Given the description of an element on the screen output the (x, y) to click on. 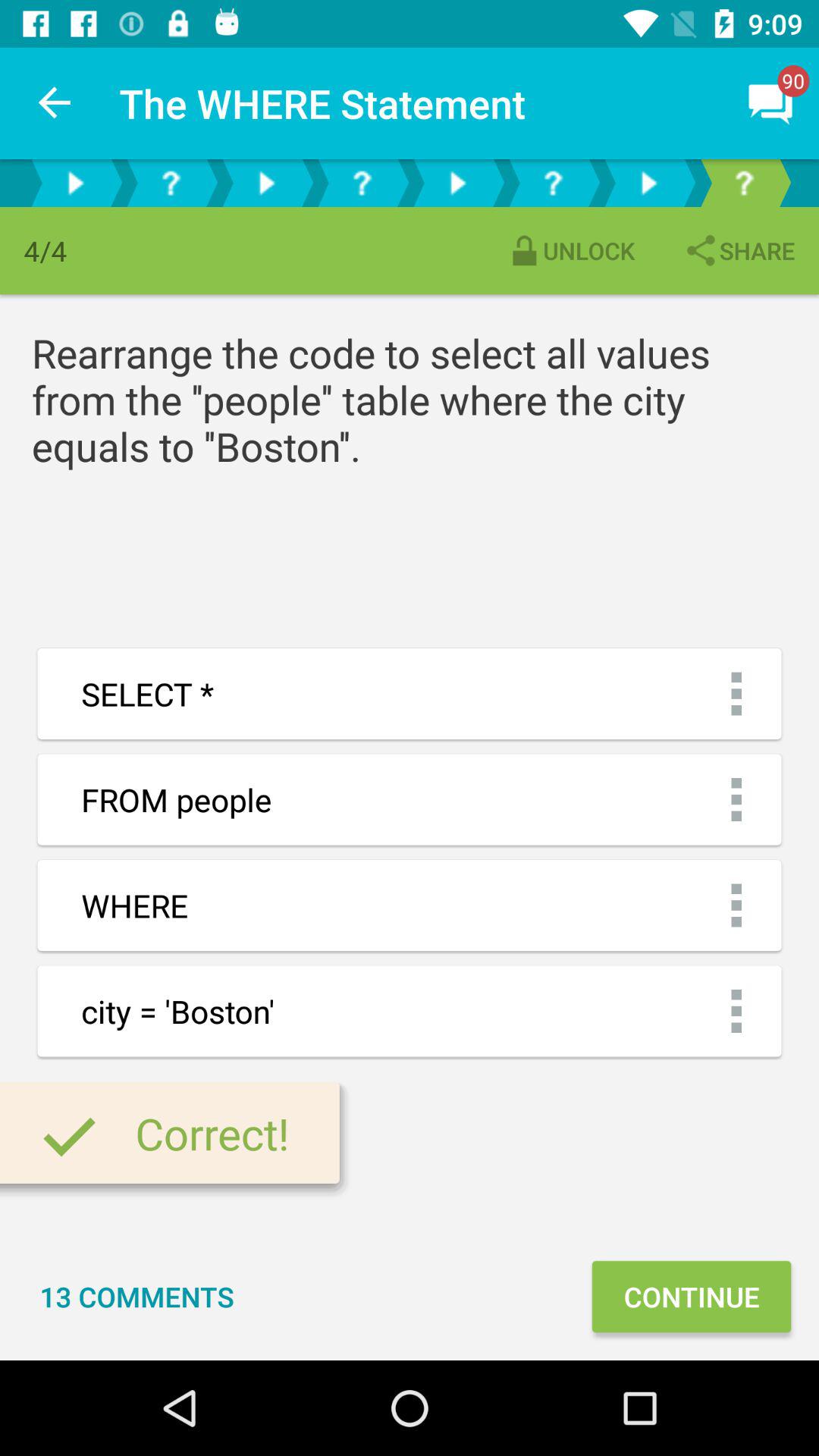
view a video (265, 183)
